Given the description of an element on the screen output the (x, y) to click on. 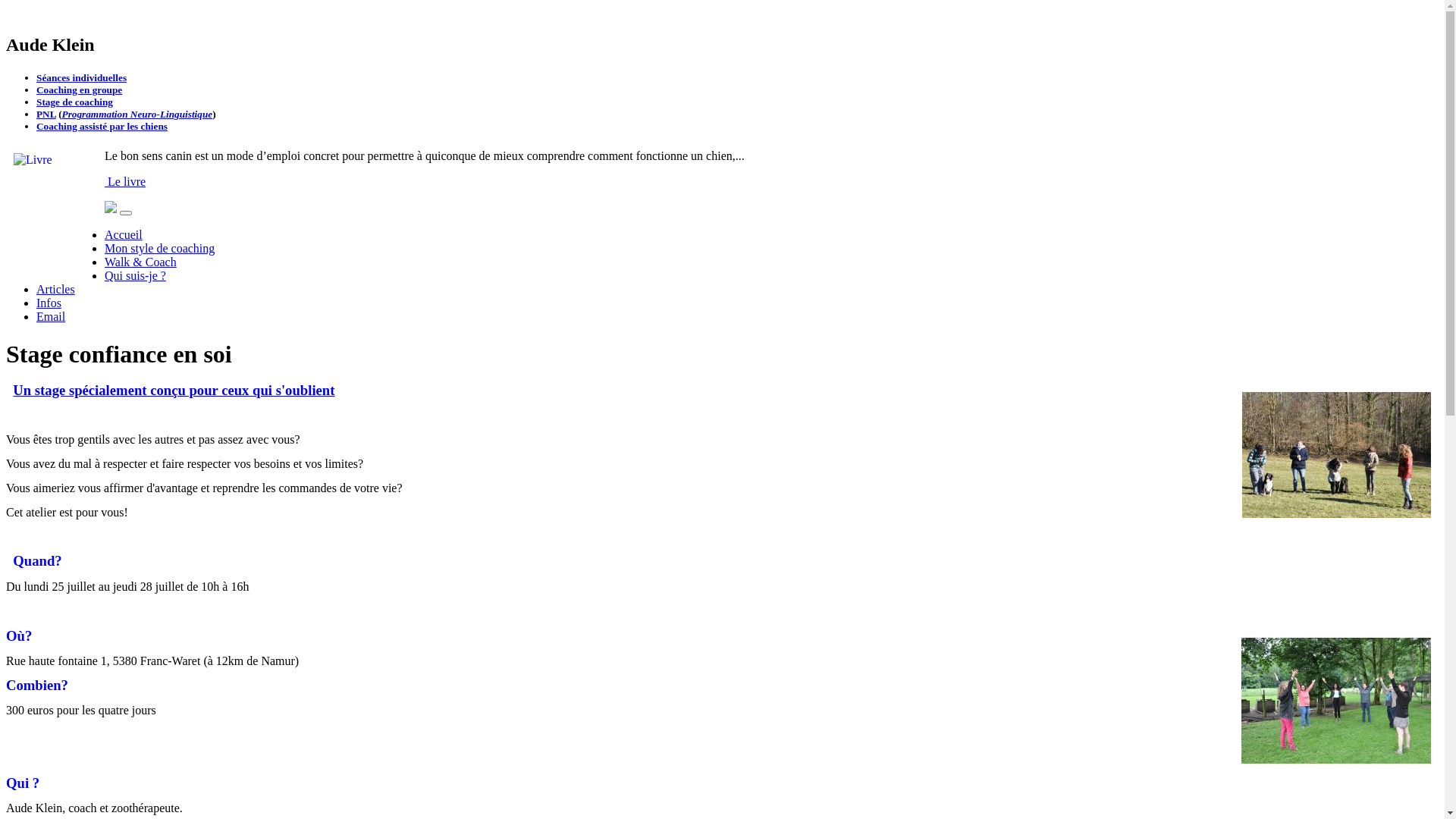
Aude Element type: hover (110, 208)
Stage de coaching Element type: text (74, 101)
Email Element type: text (50, 316)
Qui suis-je ? Element type: text (135, 275)
Mon style de coaching Element type: text (159, 247)
Programmation Neuro-Linguistique Element type: text (137, 113)
Articles Element type: text (55, 288)
dsc_0261a(2).jpg Element type: hover (1336, 454)
Coaching en groupe Element type: text (79, 89)
PNL Element type: text (46, 113)
dom6.jpg Element type: hover (1335, 700)
Accueil Element type: text (123, 234)
Walk & Coach Element type: text (140, 261)
 Le livre Element type: text (124, 181)
Infos Element type: text (48, 302)
